Given the description of an element on the screen output the (x, y) to click on. 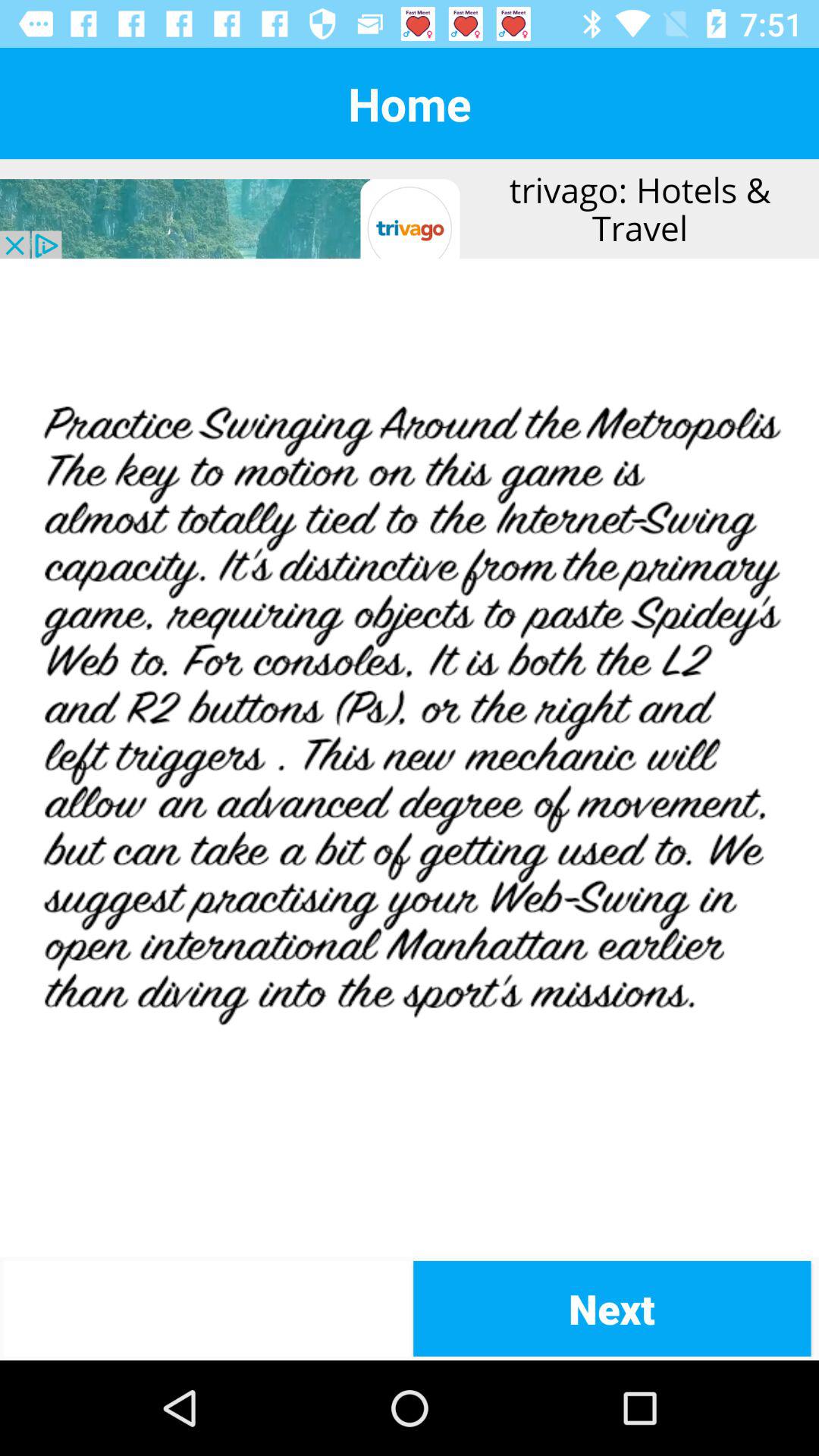
advertisement box (409, 208)
